Given the description of an element on the screen output the (x, y) to click on. 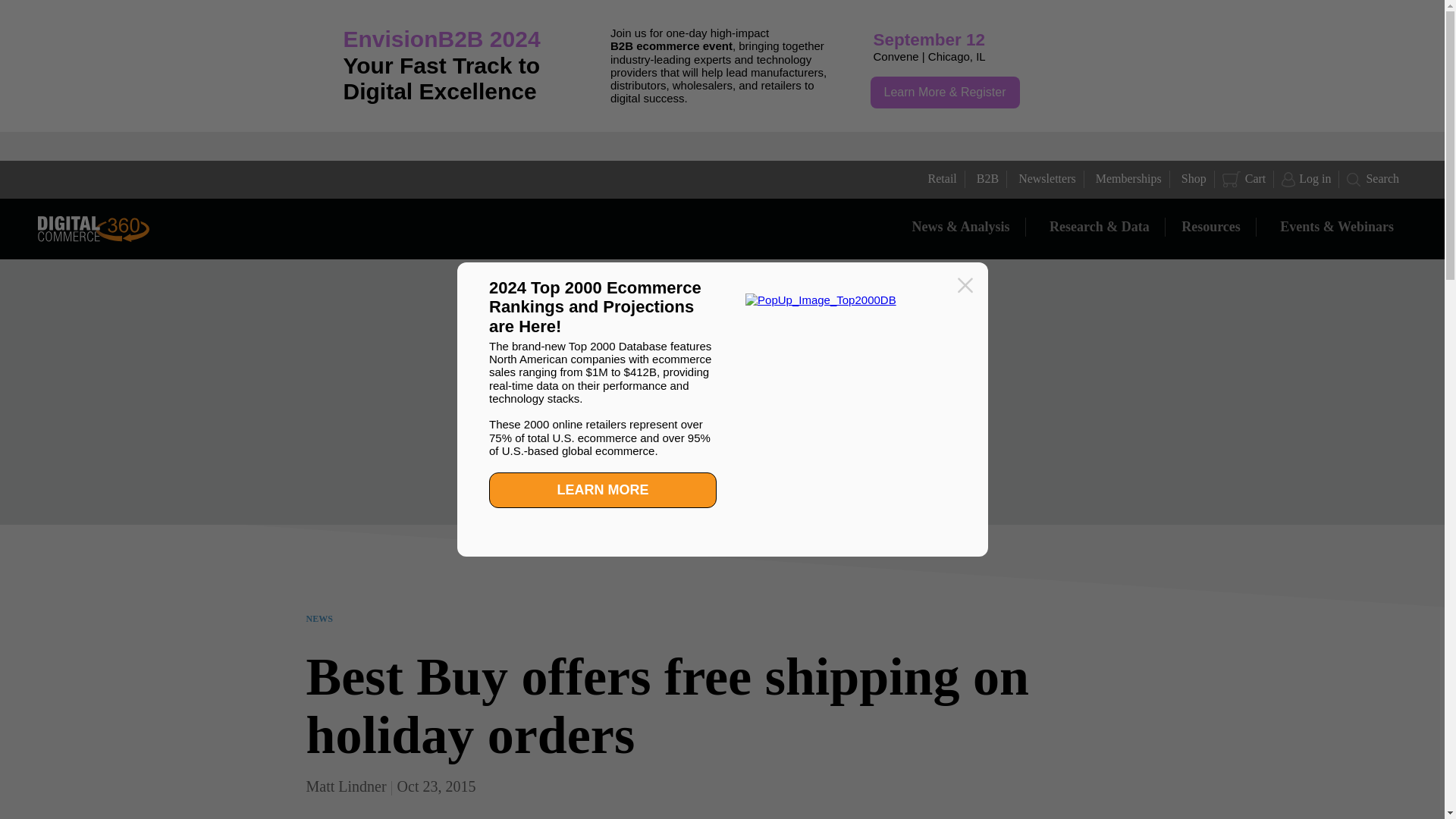
Search (1372, 179)
Retail (940, 179)
Log in (1305, 179)
Memberships (1126, 179)
B2B (985, 179)
Shop (1192, 179)
Newsletters (1044, 179)
Cart (1244, 179)
